Given the description of an element on the screen output the (x, y) to click on. 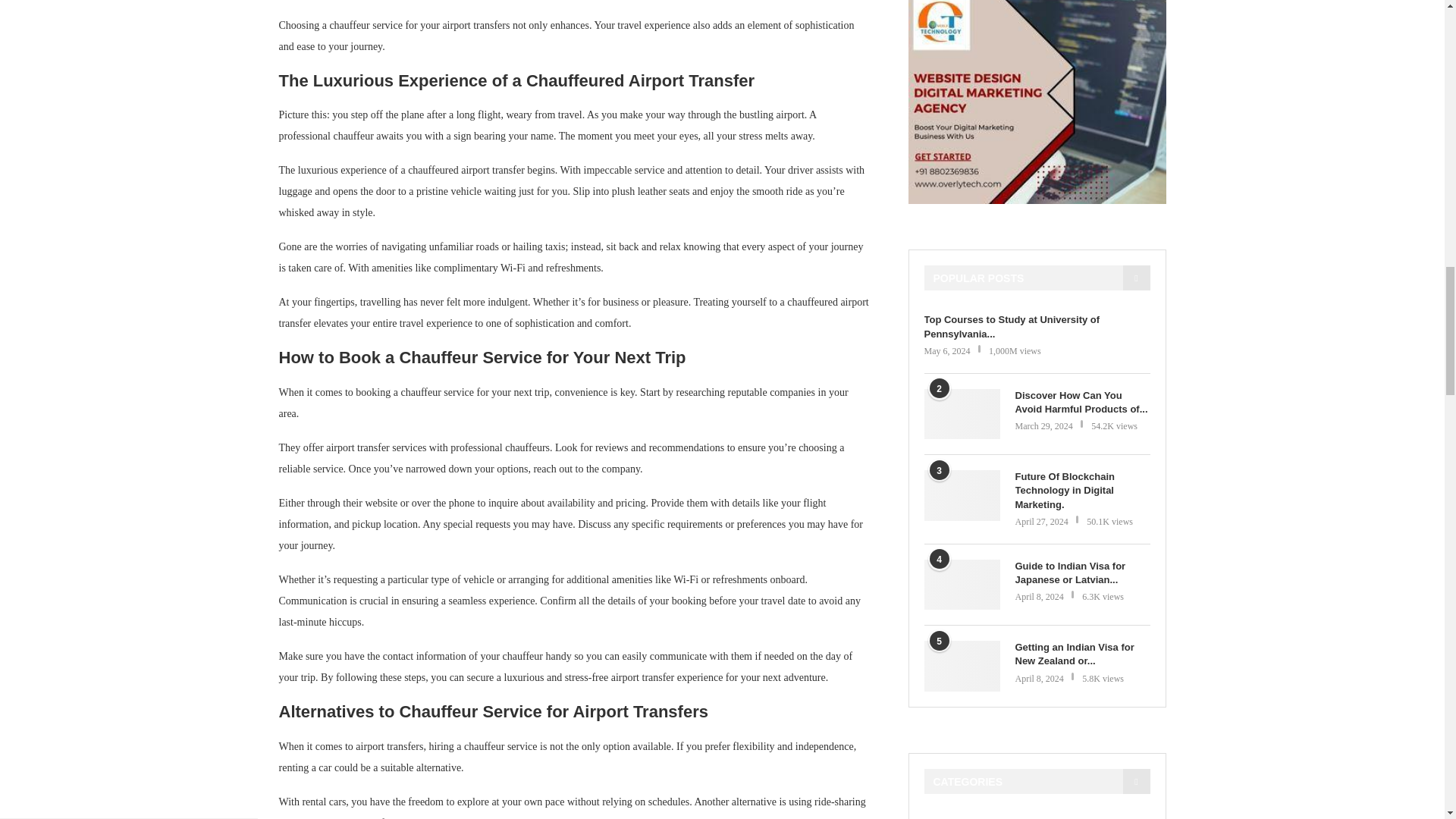
Top Courses to Study at University of Pennsylvania in 2024 (1036, 326)
